Given the description of an element on the screen output the (x, y) to click on. 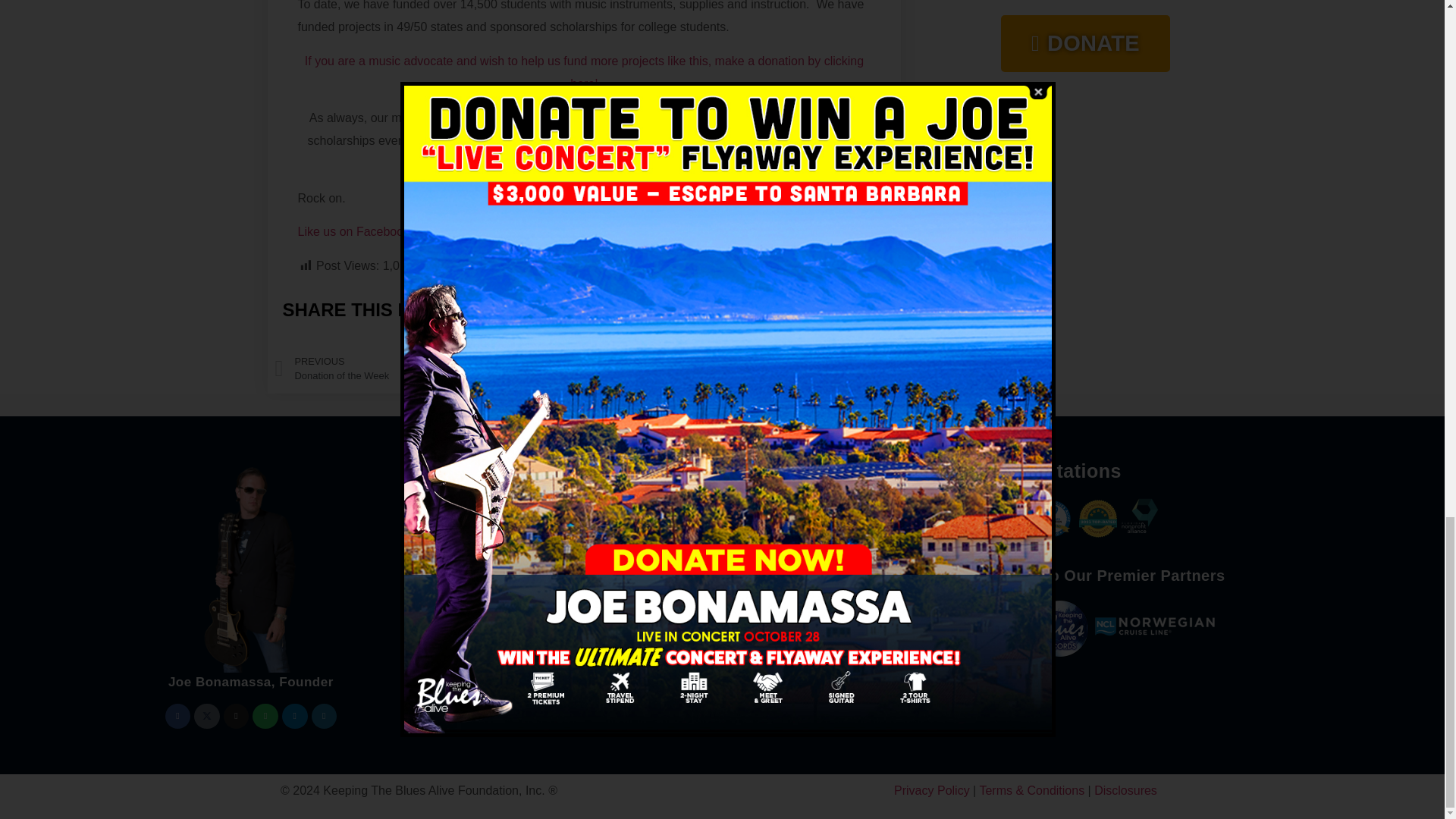
NCL-1 (1155, 626)
fl-non-profit-alliance-white-text-logo (1139, 514)
candid-seal-platinum-2024 (1007, 518)
Keeping The Blues Alive Foundation Donation Stories! (712, 151)
Donate to KTBA! (583, 72)
ktba-bluesfoundation-award-2022 (1052, 518)
View our Privacy Policy (931, 789)
2021-top-rated-awards-badge-hi-res (1097, 518)
KTBA-RECORDS-LOGO (1059, 628)
KTBA on Facebook! (353, 231)
